Given the description of an element on the screen output the (x, y) to click on. 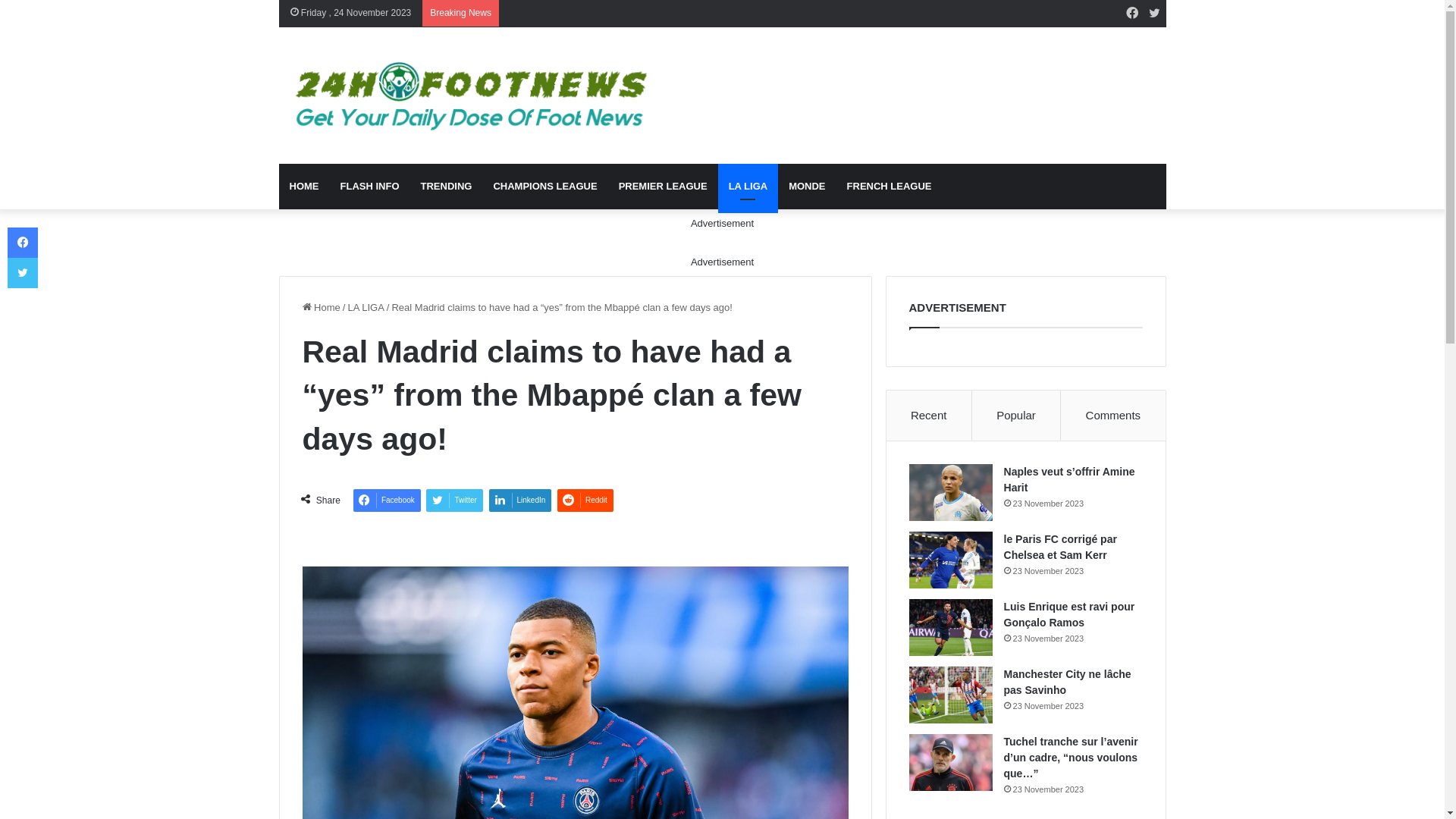
Popular Element type: text (1016, 415)
Twitter Element type: text (1154, 13)
FRENCH LEAGUE Element type: text (889, 186)
MONDE Element type: text (806, 186)
Comments Element type: text (1112, 415)
PREMIER LEAGUE Element type: text (663, 186)
Twitter Element type: text (454, 500)
HOME Element type: text (304, 186)
Reddit Element type: text (585, 500)
Facebook Element type: text (22, 242)
24hfootnews Element type: hover (467, 95)
CHAMPIONS LEAGUE Element type: text (544, 186)
LA LIGA Element type: text (748, 186)
LA LIGA Element type: text (365, 307)
Twitter Element type: text (22, 272)
TRENDING Element type: text (445, 186)
Facebook Element type: text (386, 500)
FLASH INFO Element type: text (369, 186)
Home Element type: text (320, 307)
Facebook Element type: text (1131, 13)
LinkedIn Element type: text (519, 500)
Recent Element type: text (929, 415)
